Given the description of an element on the screen output the (x, y) to click on. 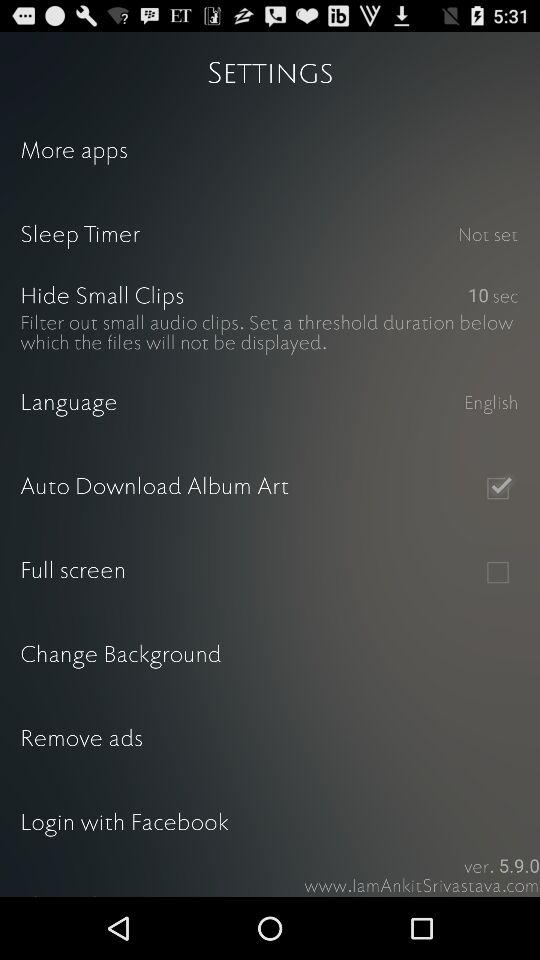
toggle auto download album art option (498, 488)
